Given the description of an element on the screen output the (x, y) to click on. 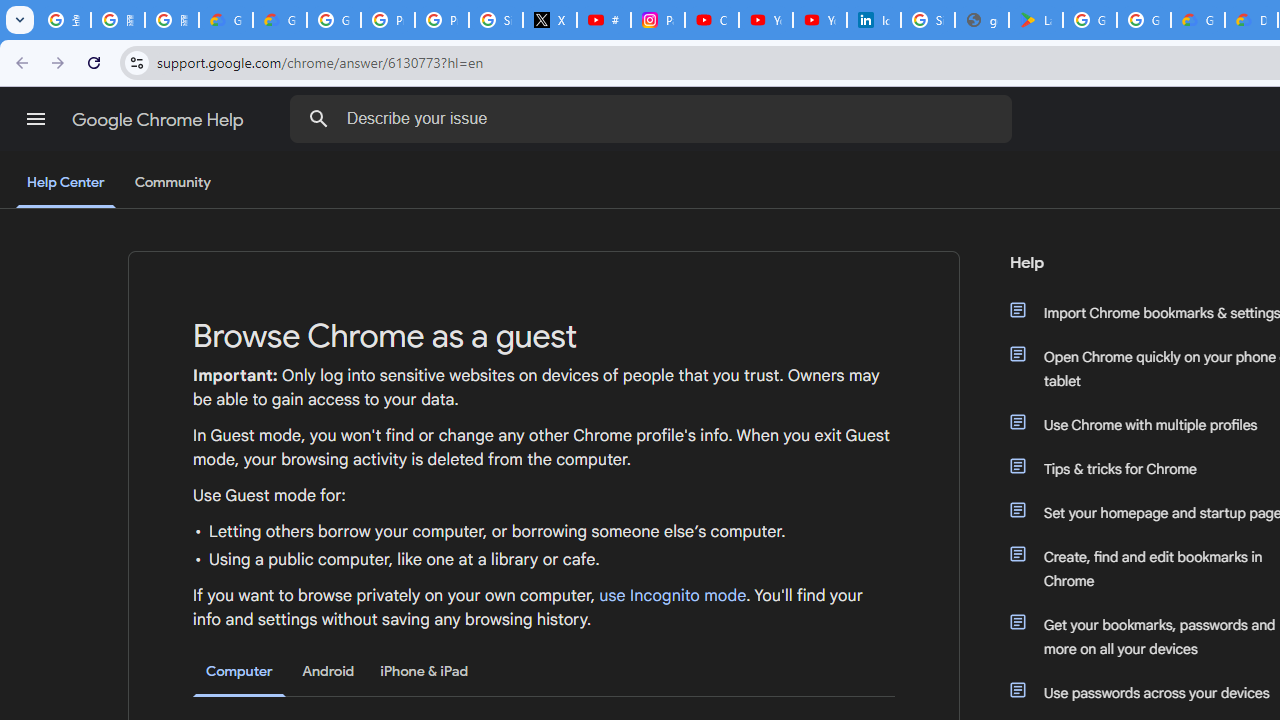
Android (328, 671)
X (550, 20)
Computer (239, 672)
#nbabasketballhighlights - YouTube (604, 20)
Main menu (35, 119)
Sign in - Google Accounts (927, 20)
Help Center (65, 183)
